Given the description of an element on the screen output the (x, y) to click on. 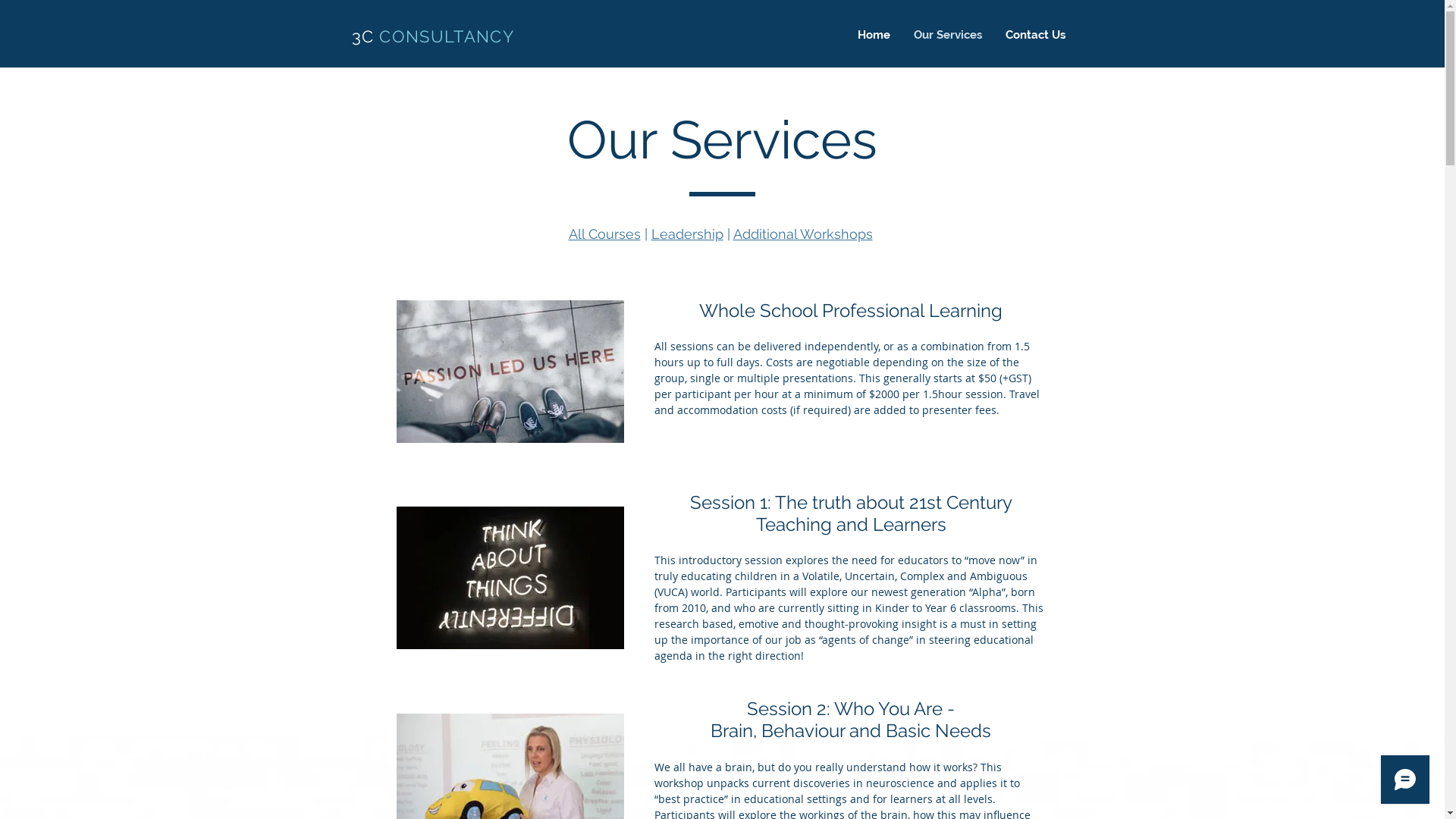
Additional Workshops Element type: text (802, 233)
Home Element type: text (873, 34)
Contact Us Element type: text (1035, 34)
All Courses Element type: text (604, 233)
Leadership Element type: text (686, 233)
Our Services Element type: text (947, 34)
3C CONSULTANCY Element type: text (432, 36)
